Given the description of an element on the screen output the (x, y) to click on. 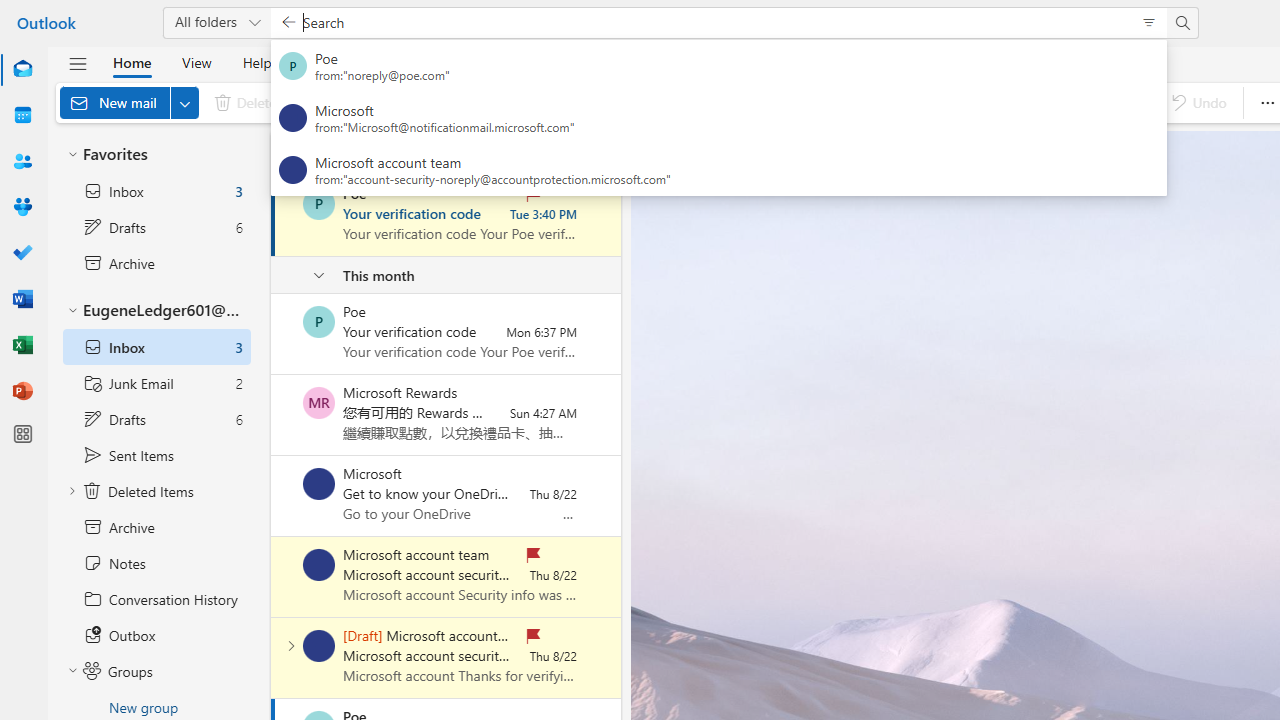
To Do (22, 254)
Flag / Unflag (927, 102)
Help (256, 61)
Home (132, 61)
Groups (22, 207)
Excel (22, 345)
Expand to see delete options (289, 102)
PowerPoint (22, 390)
People (22, 161)
Word (22, 298)
Other (438, 152)
Expand to see more report options (477, 102)
Hide navigation pane (77, 63)
